Given the description of an element on the screen output the (x, y) to click on. 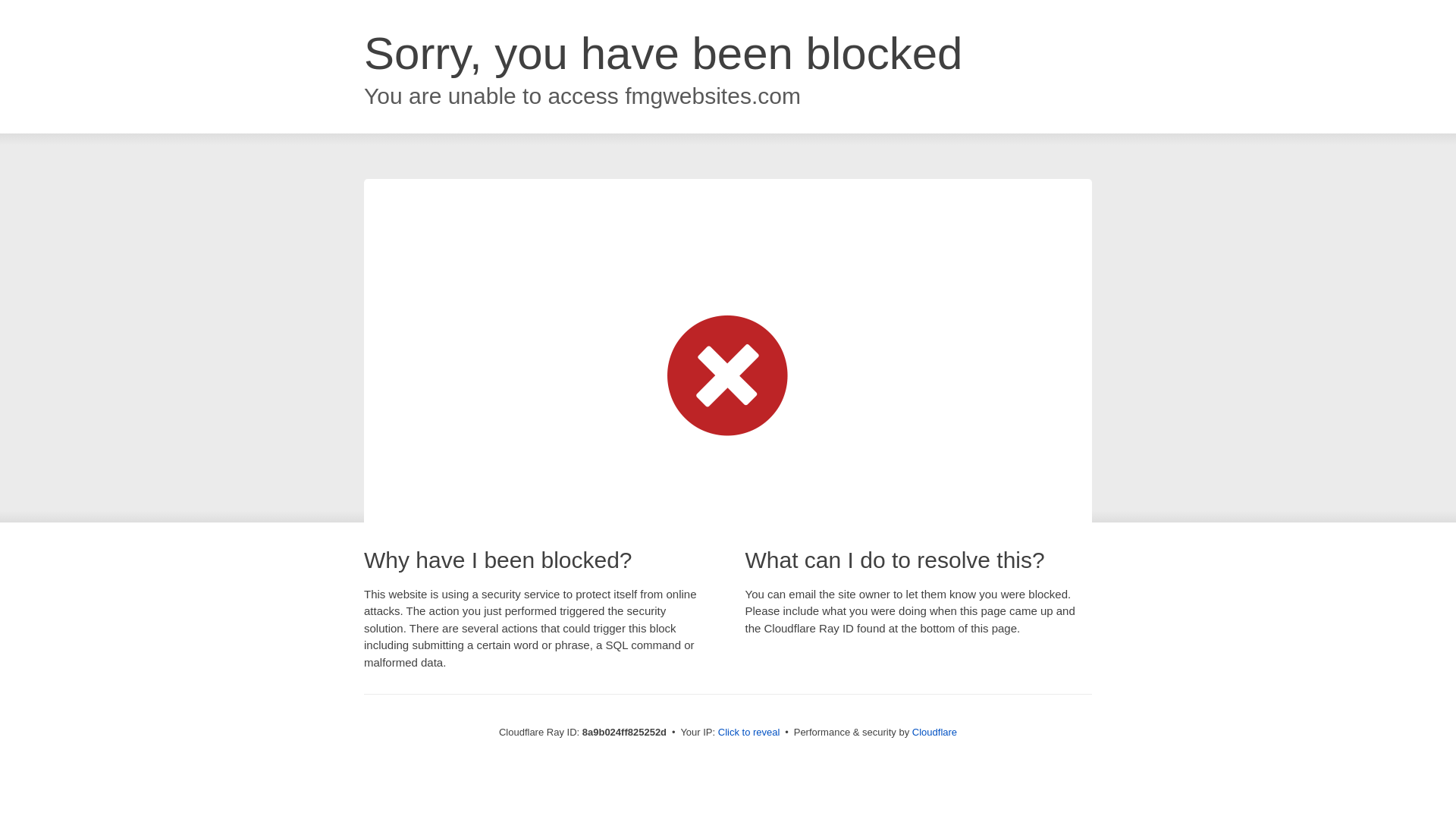
Click to reveal (748, 732)
Cloudflare (934, 731)
